Given the description of an element on the screen output the (x, y) to click on. 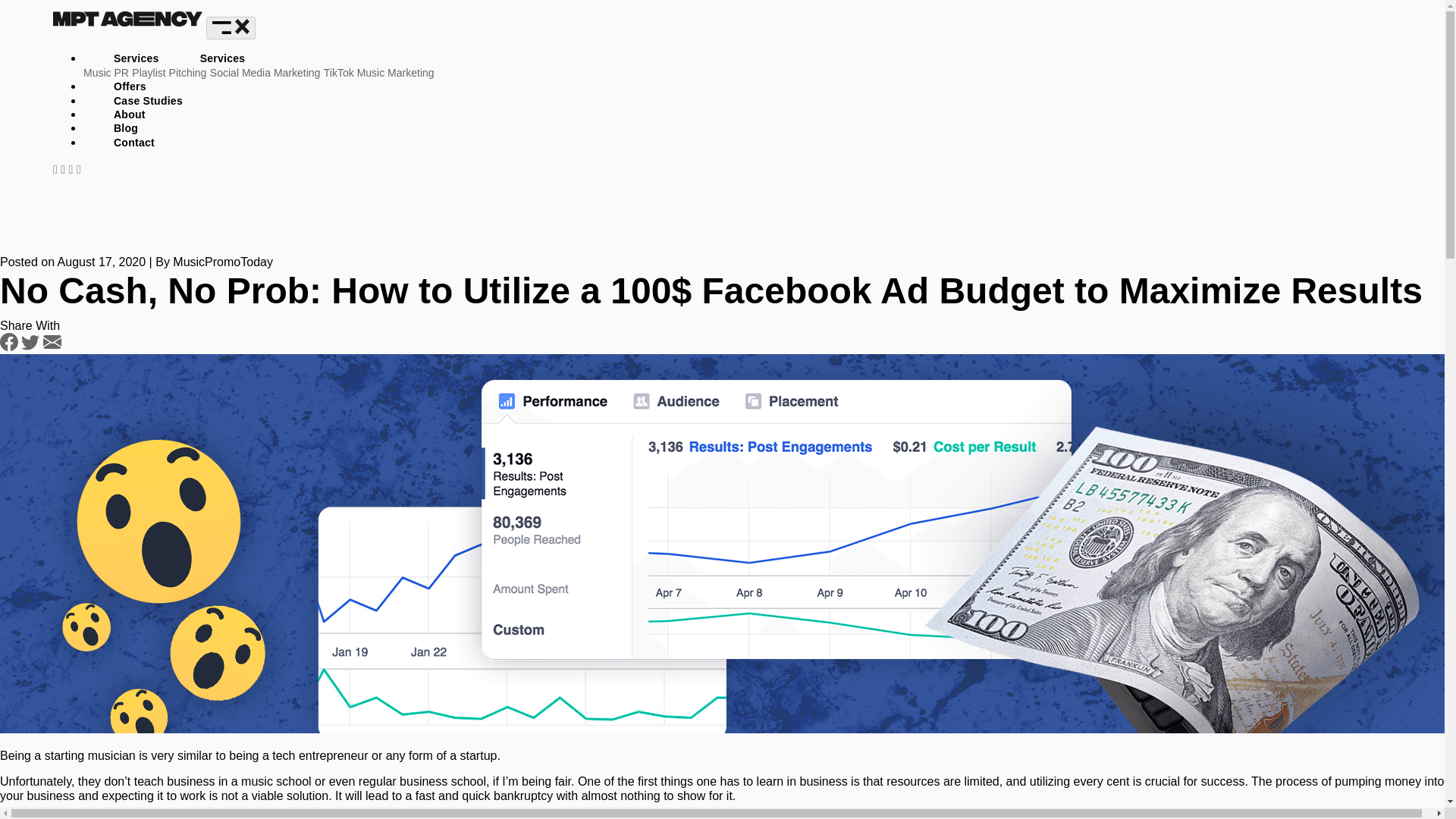
Share via Email (52, 346)
Services (222, 59)
About (129, 114)
Offers (130, 86)
TikTok Music Marketing (378, 72)
Services (138, 59)
Music PR (105, 72)
Case Studies (148, 101)
Playlist Pitching (169, 72)
Contact (133, 143)
Click to share this post on Twitter (31, 346)
Social Media Marketing (264, 72)
Blog (125, 128)
